Given the description of an element on the screen output the (x, y) to click on. 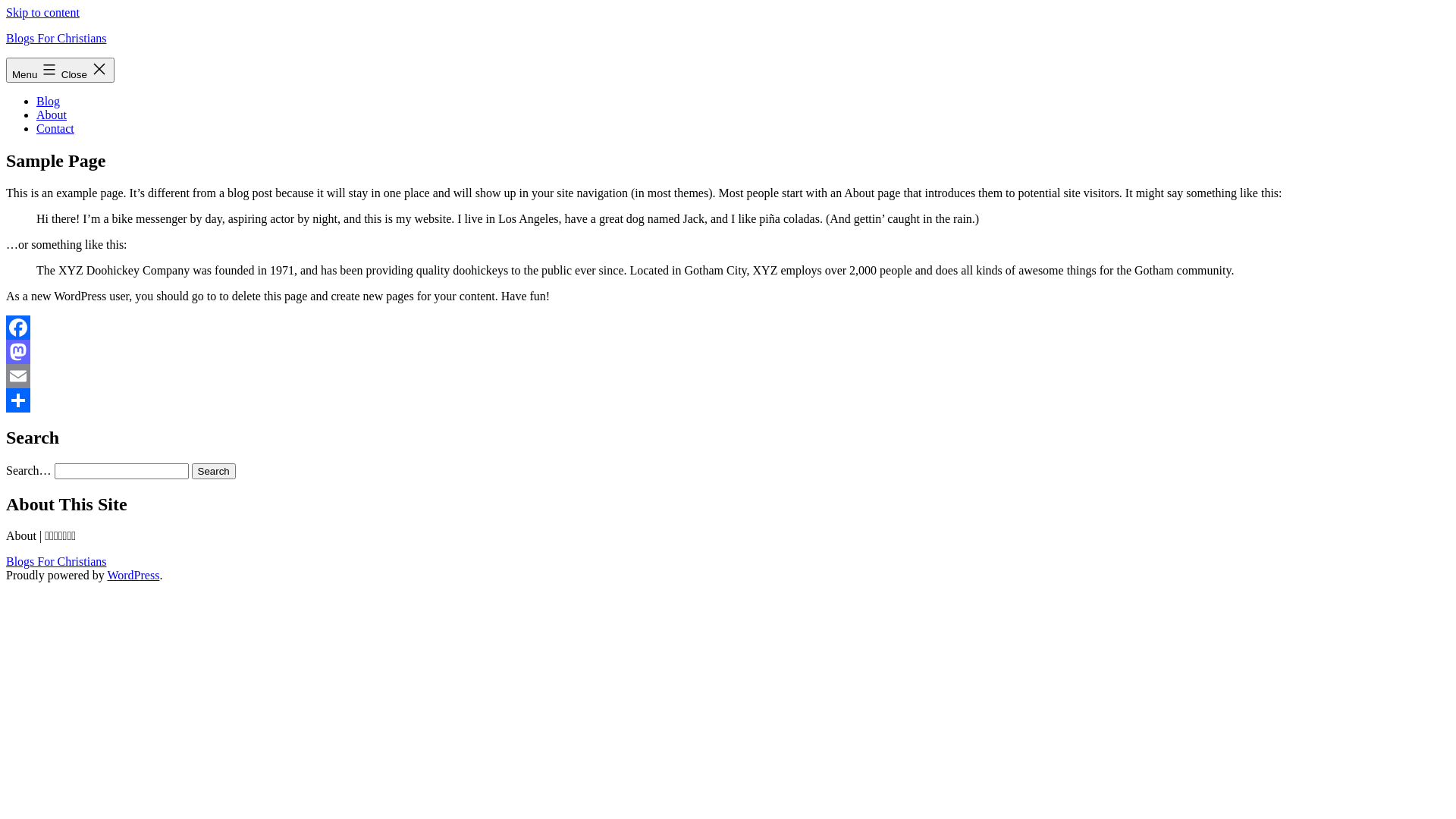
Blogs For Christians Element type: text (56, 561)
Facebook Element type: text (727, 327)
Contact Element type: text (55, 128)
Menu Close Element type: text (60, 69)
Blog Element type: text (47, 100)
Skip to content Element type: text (42, 12)
Share Element type: text (727, 400)
Mastodon Element type: text (727, 351)
About Element type: text (51, 114)
Blogs For Christians Element type: text (56, 37)
WordPress Element type: text (132, 574)
Email Element type: text (727, 376)
Search Element type: text (213, 471)
